Given the description of an element on the screen output the (x, y) to click on. 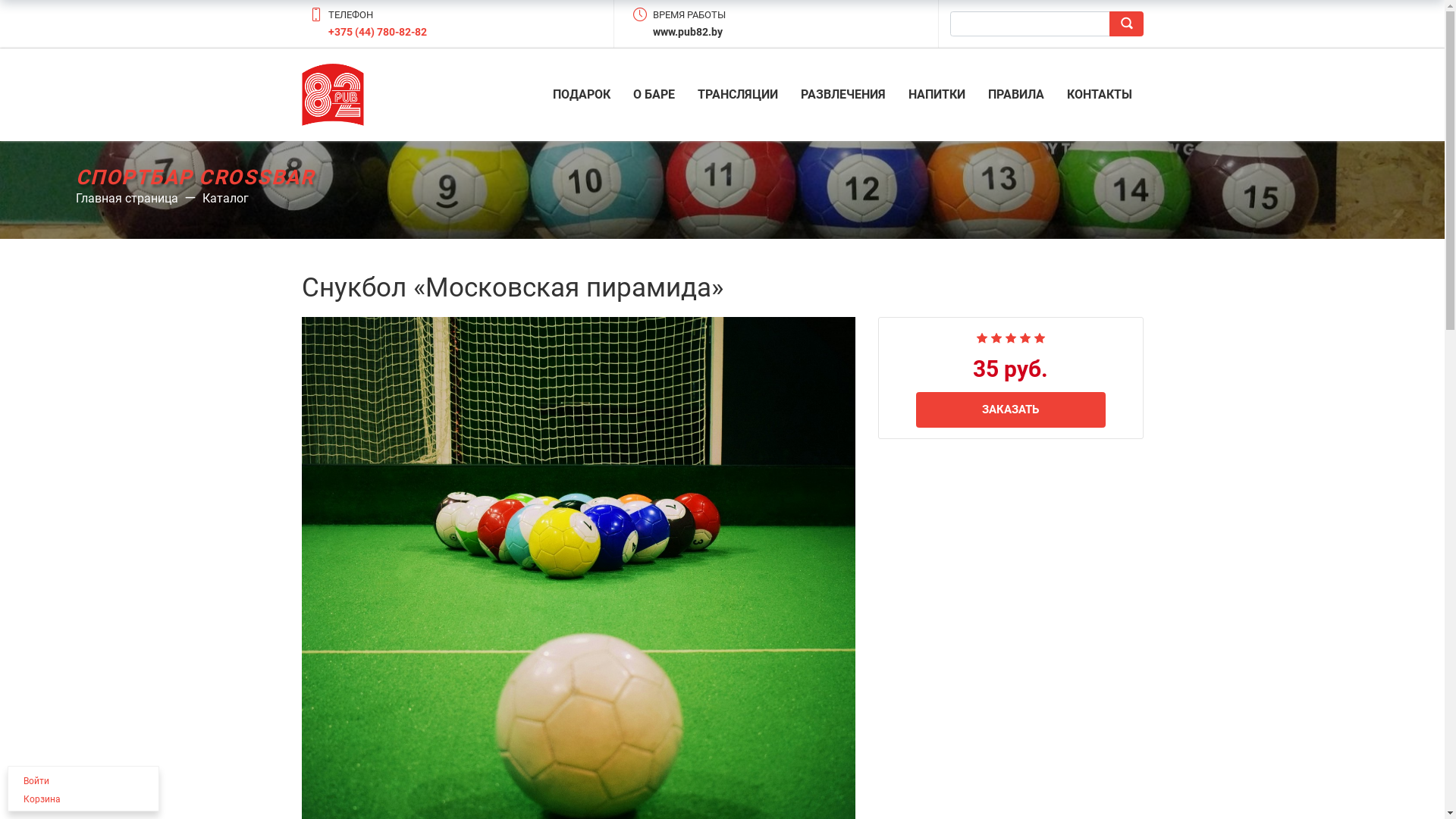
1 Element type: hover (981, 336)
5 Element type: hover (1038, 336)
+375 (44) 780-82-82 Element type: text (377, 31)
4 Element type: hover (1025, 336)
3 Element type: hover (1010, 336)
2 Element type: hover (996, 336)
